Given the description of an element on the screen output the (x, y) to click on. 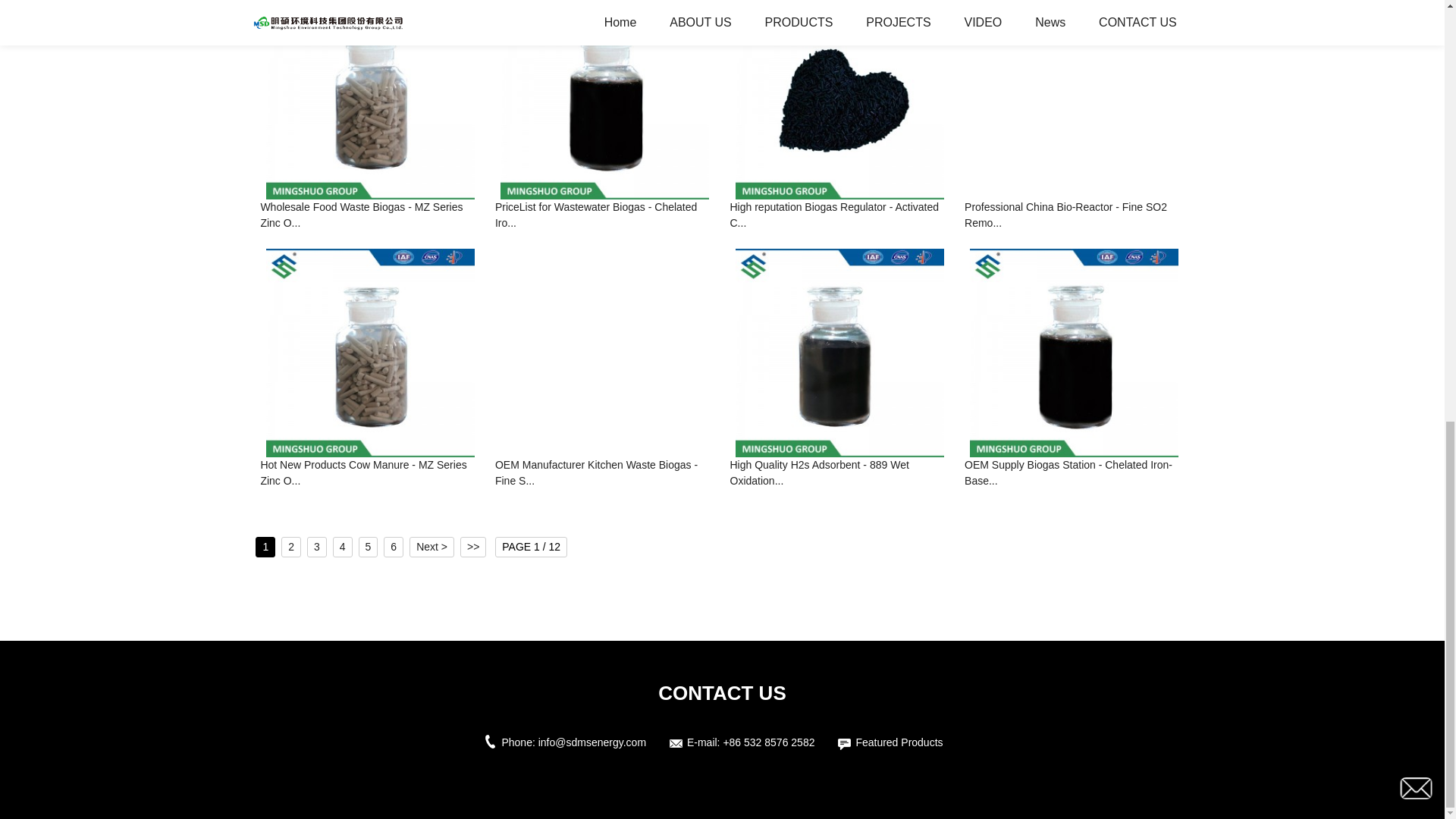
Professional China Bio-Reactor - Fine SO2 Remo... (1074, 216)
Wholesale Food Waste Biogas - MZ Series Zinc O... (370, 216)
High reputation Biogas Regulator - Activated C... (839, 216)
PriceList for Wastewater Biogas - Chelated Iro... (604, 216)
The Last Page (473, 547)
Hot New Products Cow Manure - MZ Series Zinc O... (370, 474)
